Given the description of an element on the screen output the (x, y) to click on. 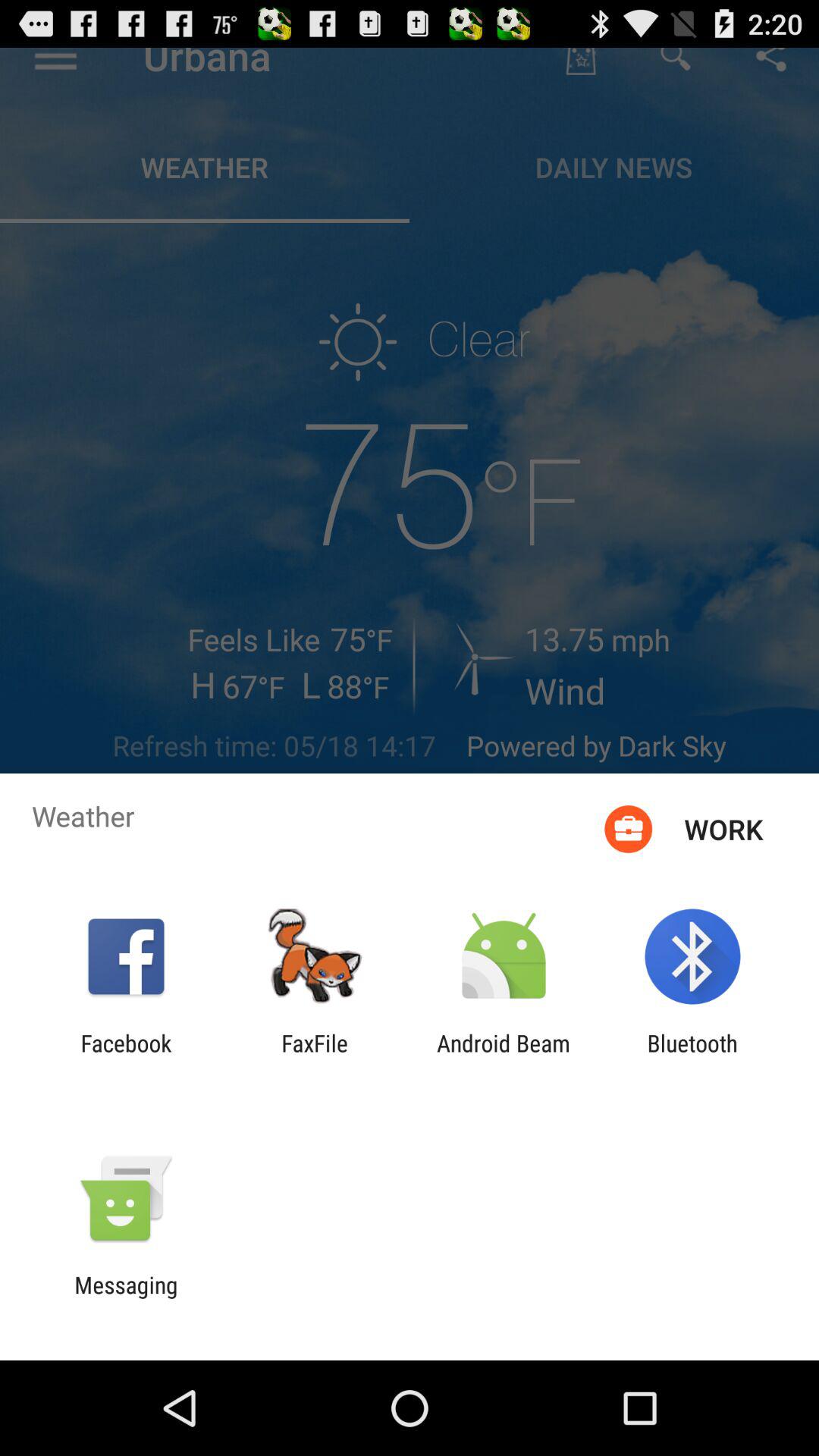
turn on the facebook app (125, 1056)
